Given the description of an element on the screen output the (x, y) to click on. 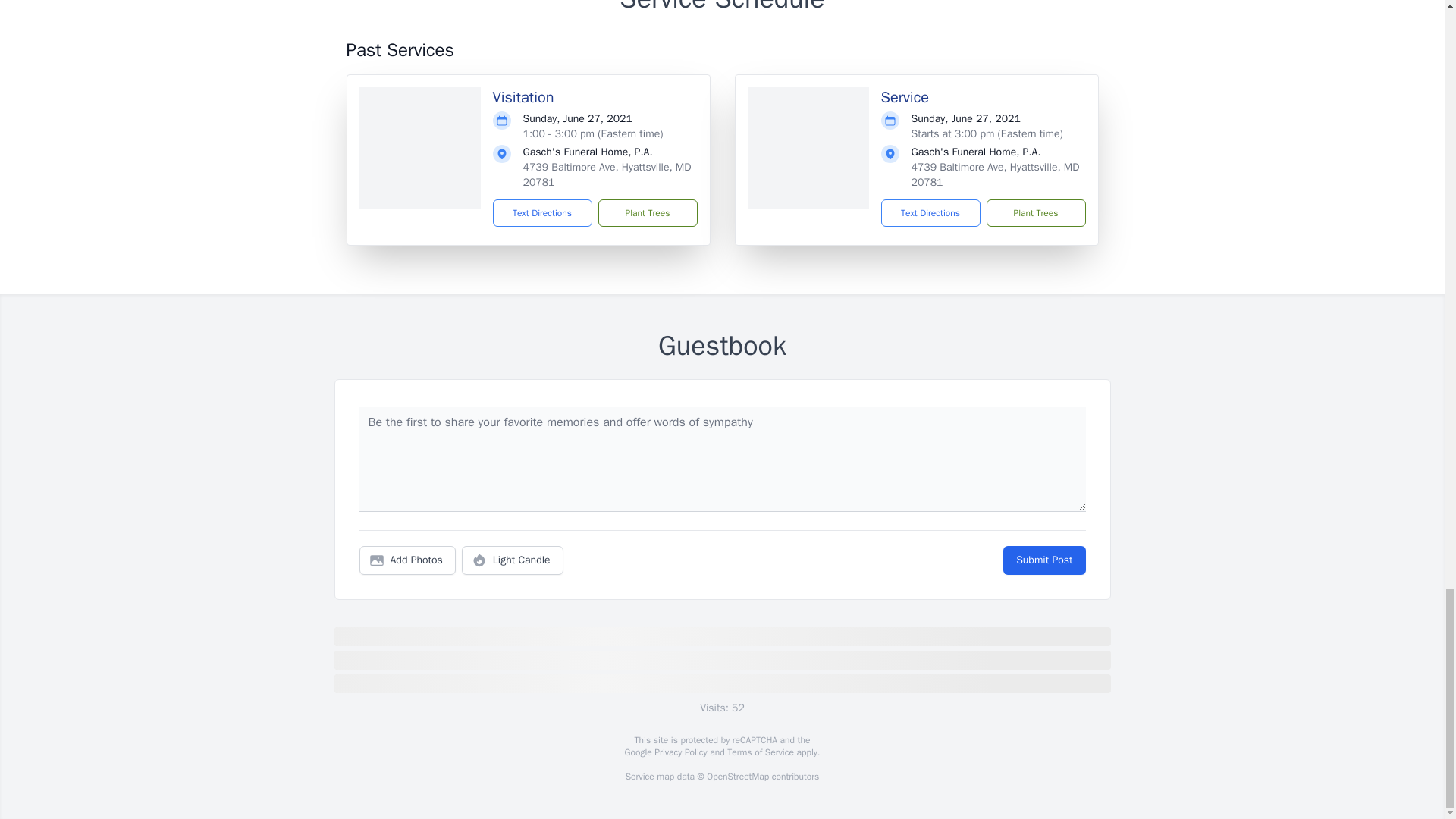
Privacy Policy (679, 752)
Submit Post (1043, 560)
4739 Baltimore Ave, Hyattsville, MD 20781 (606, 174)
Add Photos (407, 560)
Plant Trees (1034, 212)
OpenStreetMap (737, 776)
Plant Trees (646, 212)
Text Directions (929, 212)
Text Directions (542, 212)
Terms of Service (759, 752)
